Given the description of an element on the screen output the (x, y) to click on. 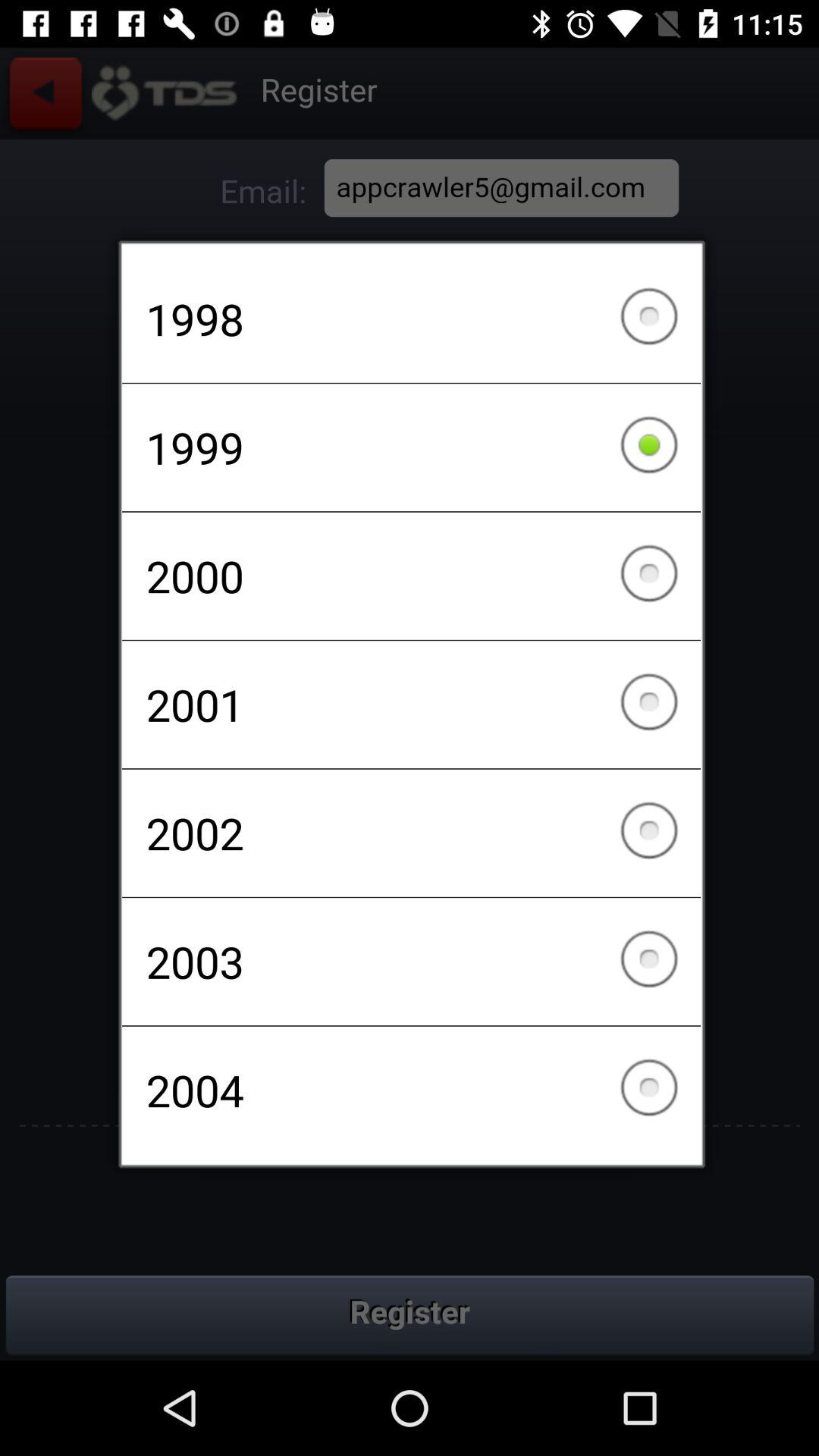
jump to the 2000 item (411, 575)
